Given the description of an element on the screen output the (x, y) to click on. 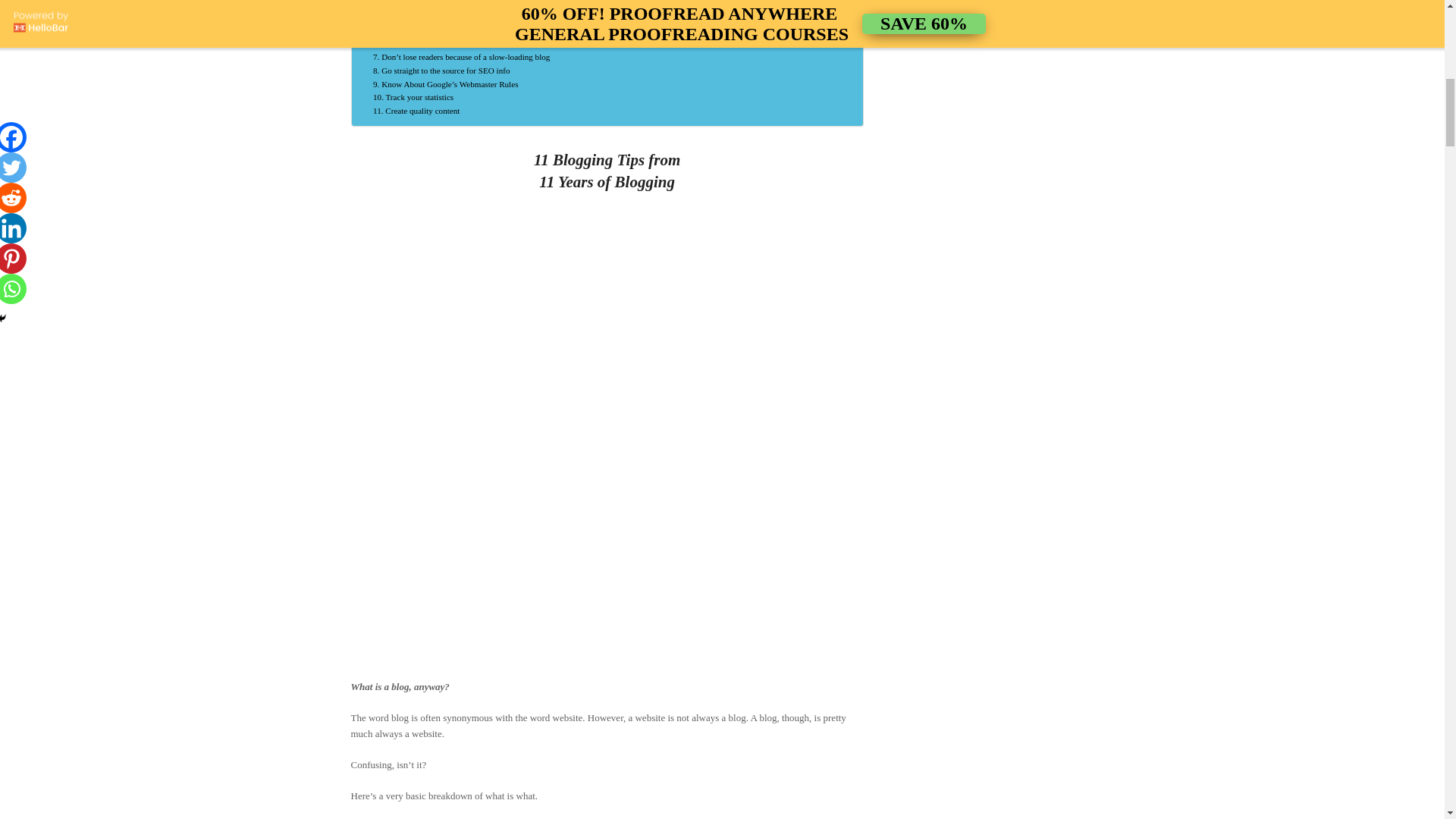
4. Choose the right blog theme (441, 70)
How to start a blog in any niche (424, 17)
6. Join the right affiliate programs (416, 110)
10. Track your statistics (429, 43)
